Given the description of an element on the screen output the (x, y) to click on. 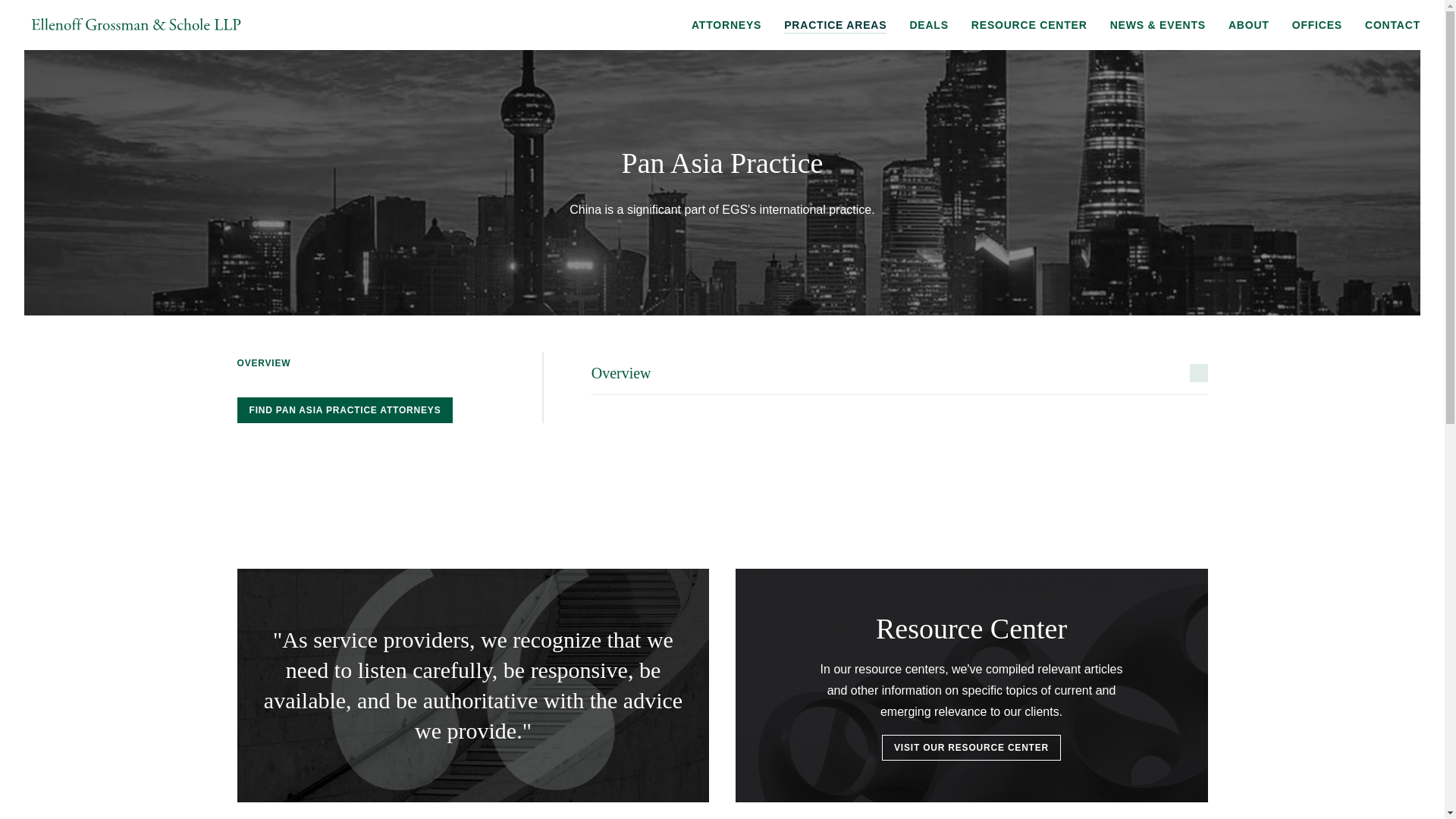
ABOUT (1248, 26)
ATTORNEYS (726, 26)
DEALS (927, 26)
PRACTICE AREAS (835, 26)
GROUP 59 CREATED WITH SKETCH. (135, 24)
OFFICES (1317, 26)
OVERVIEW (262, 362)
Overview (899, 372)
GROUP 59 CREATED WITH SKETCH. (135, 25)
RESOURCE CENTER (1029, 26)
